Given the description of an element on the screen output the (x, y) to click on. 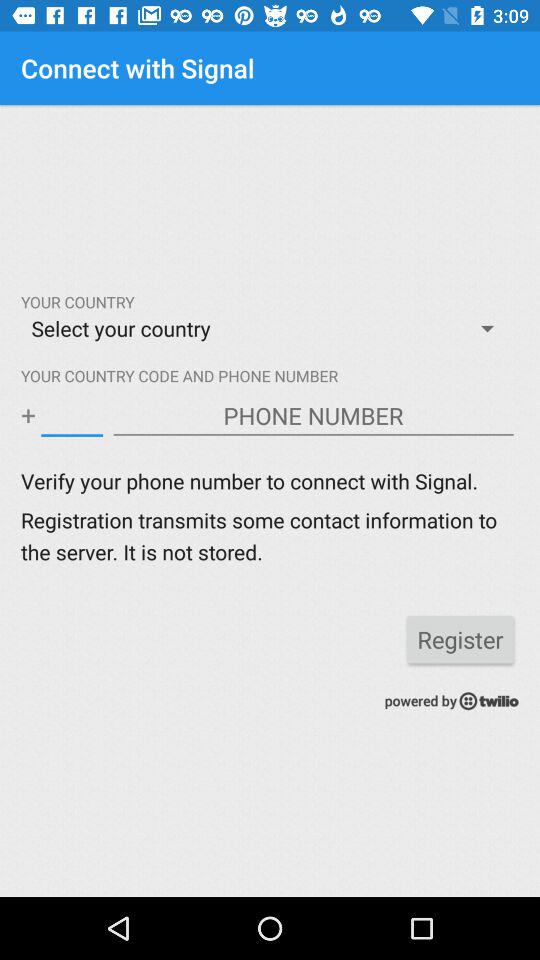
focus field to enter phone number (313, 415)
